Given the description of an element on the screen output the (x, y) to click on. 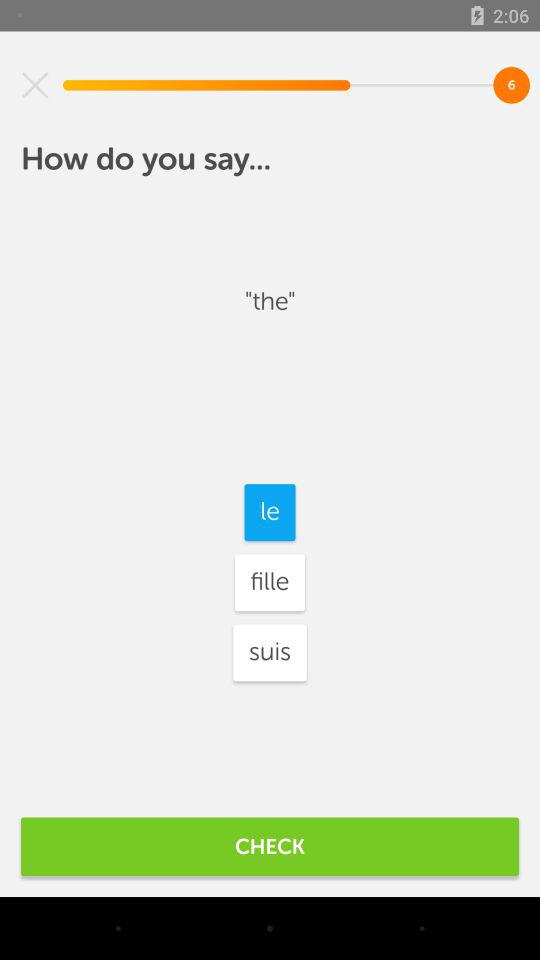
turn on icon above the fille icon (269, 512)
